Given the description of an element on the screen output the (x, y) to click on. 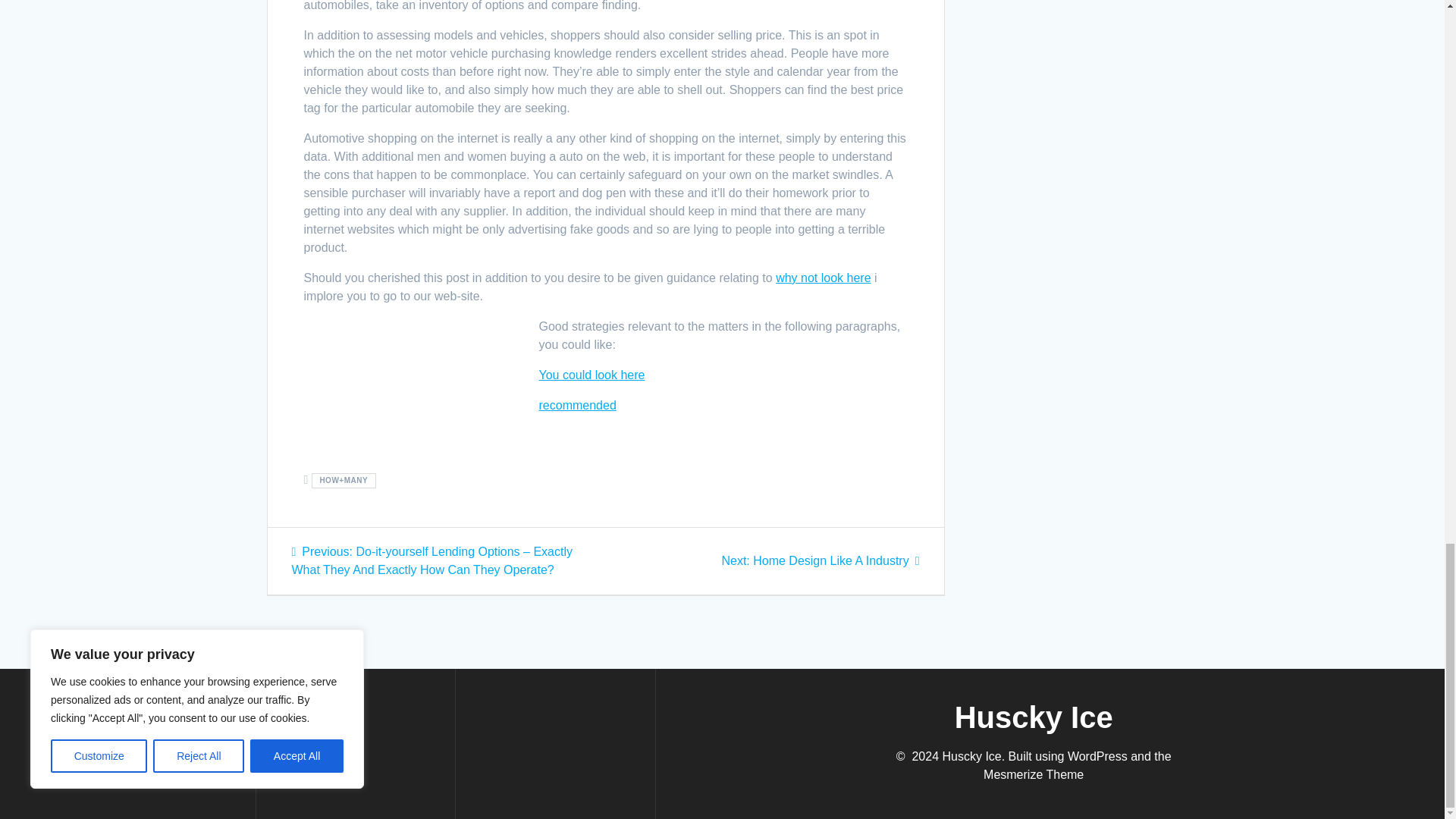
recommended (576, 404)
You could look here (591, 374)
why not look here (819, 560)
